Given the description of an element on the screen output the (x, y) to click on. 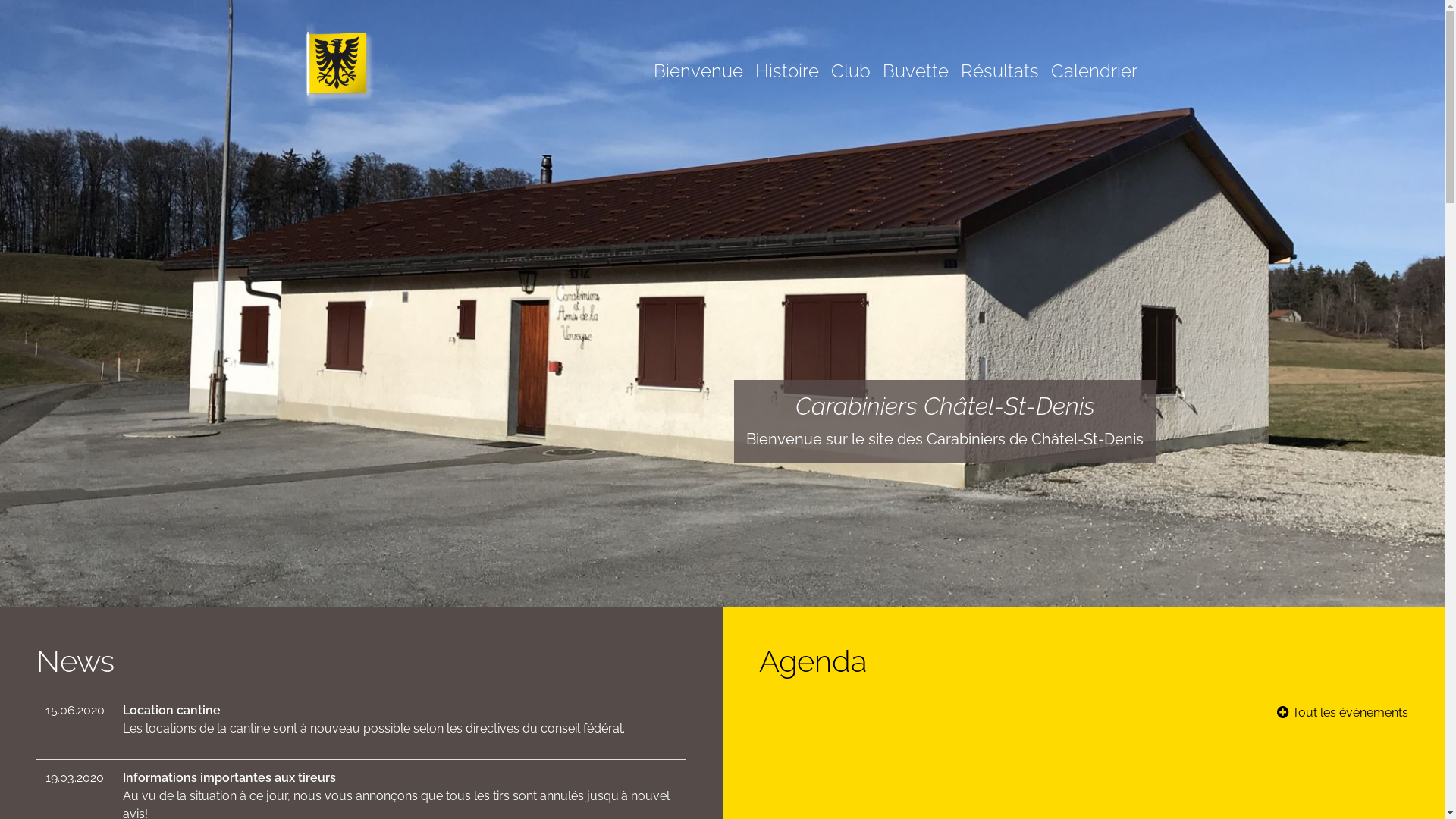
Calendrier Element type: text (1093, 57)
Buvette Element type: text (915, 57)
Histoire Element type: text (787, 57)
Bienvenue Element type: text (698, 57)
Club Element type: text (850, 57)
